Given the description of an element on the screen output the (x, y) to click on. 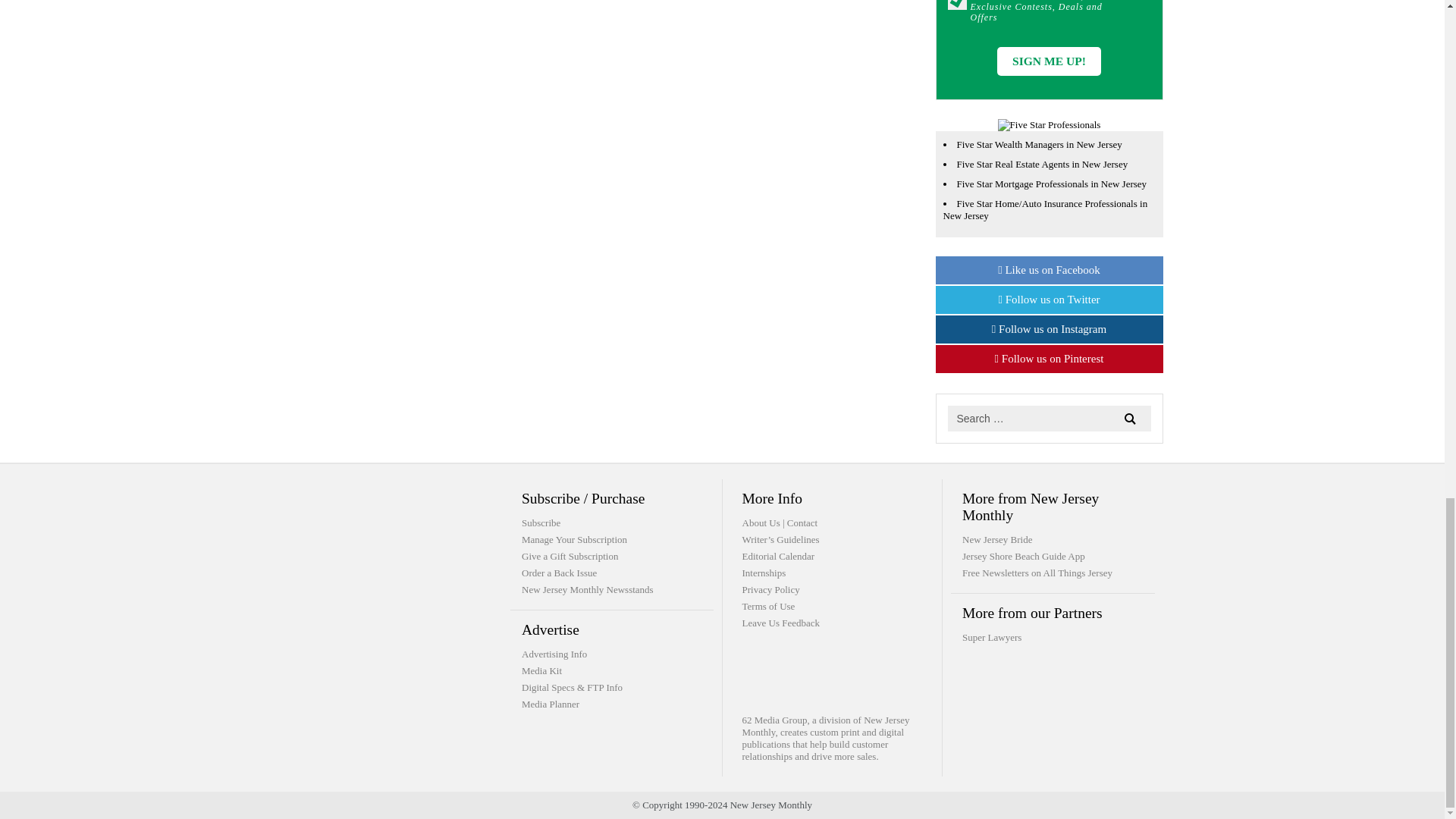
Leave us feedback (780, 622)
Search for: (1049, 418)
Sign Me Up! (1048, 61)
